Given the description of an element on the screen output the (x, y) to click on. 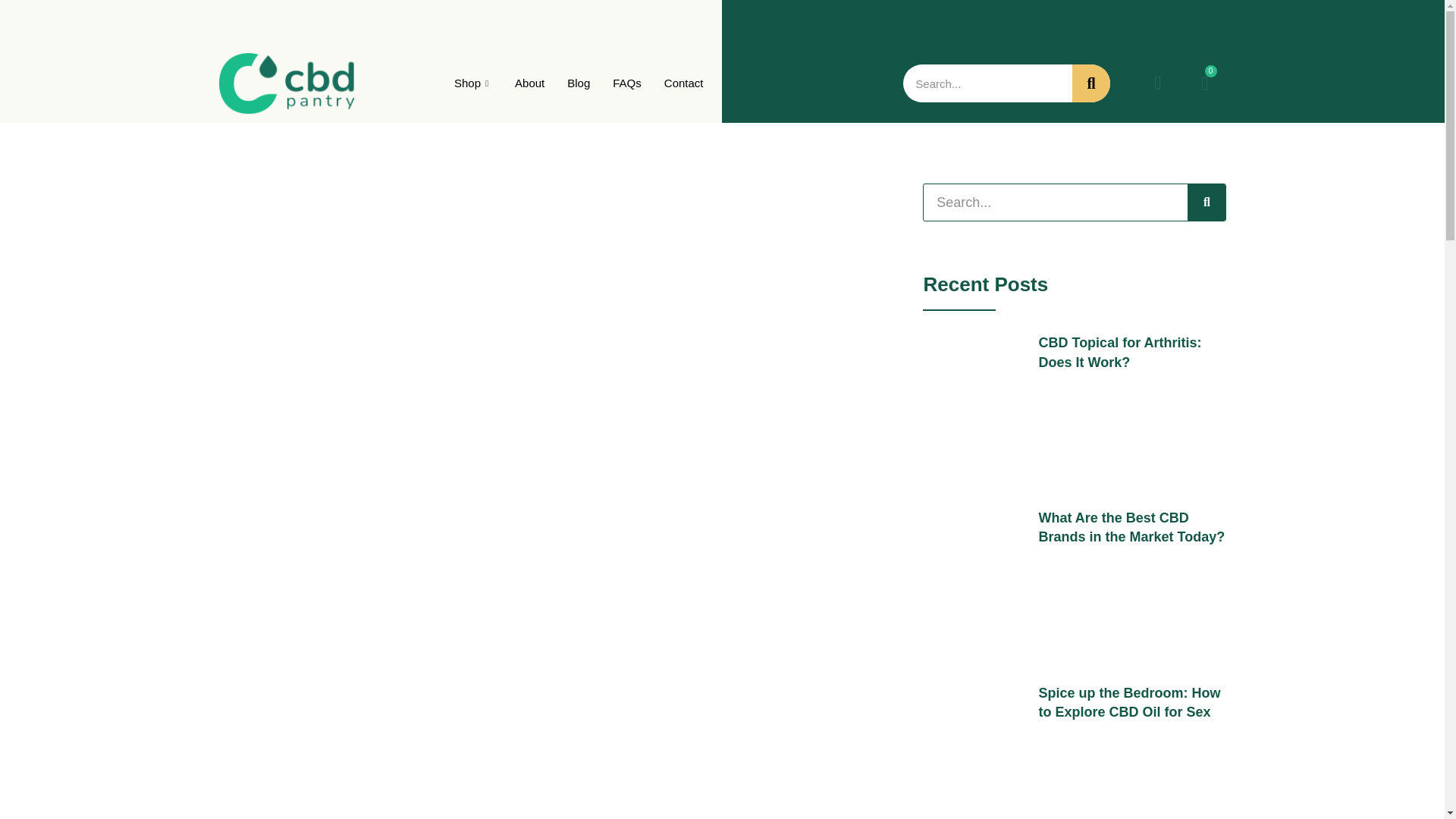
Search (1055, 202)
Search (986, 83)
Shop (472, 83)
Search (1206, 202)
Search (1090, 83)
Contact (683, 83)
